Given the description of an element on the screen output the (x, y) to click on. 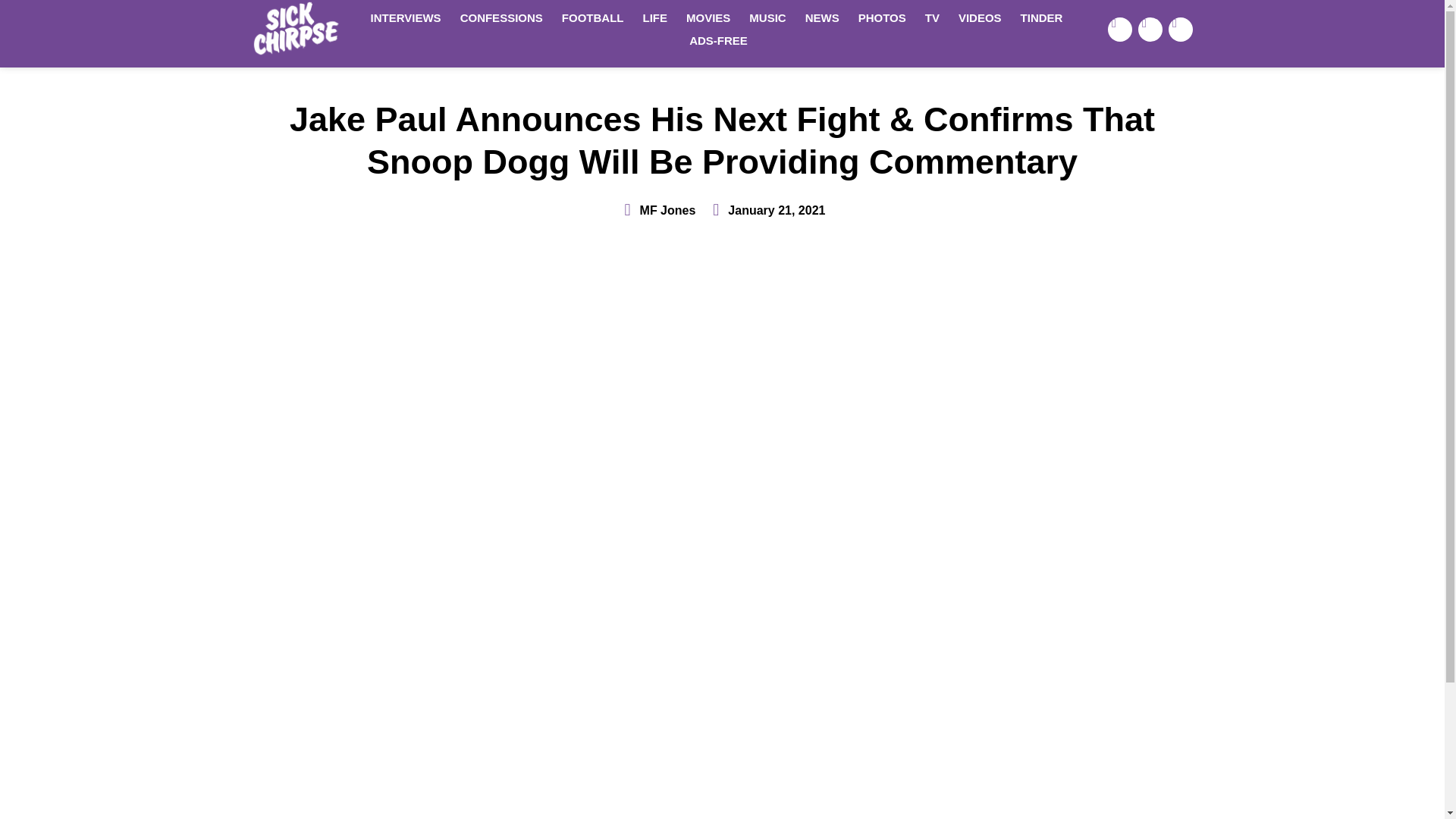
FOOTBALL (592, 17)
LIFE (654, 17)
PHOTOS (882, 17)
Twitter (1149, 29)
VIDEOS (979, 17)
TINDER (1041, 17)
MUSIC (767, 17)
INTERVIEWS (405, 17)
Facebook (1120, 29)
TV (932, 17)
Instagram (1180, 29)
CONFESSIONS (501, 17)
MOVIES (708, 17)
ADS-FREE (718, 40)
NEWS (822, 17)
